Given the description of an element on the screen output the (x, y) to click on. 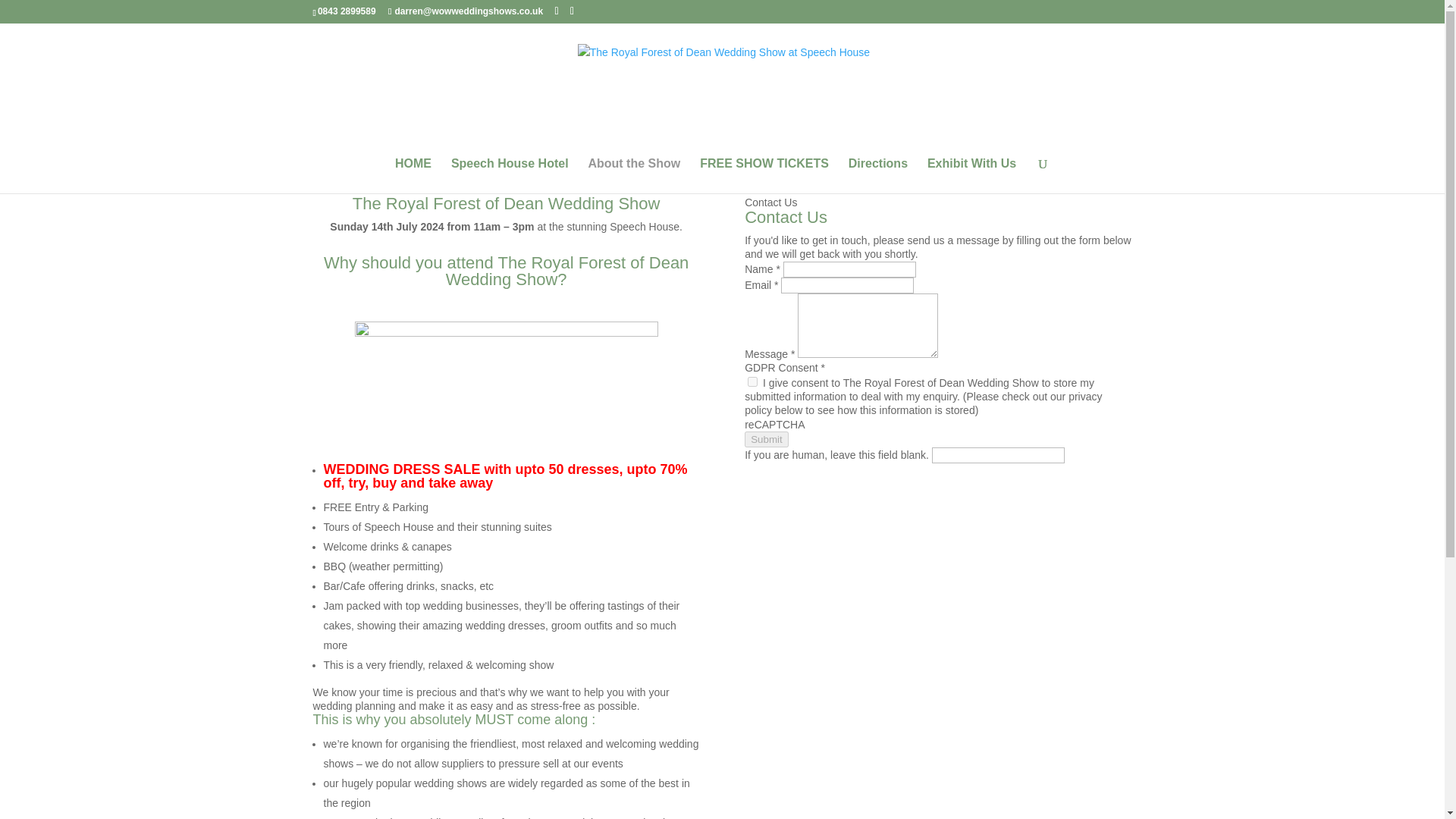
Speech House Hotel (510, 175)
FREE SHOW TICKETS (764, 175)
Exhibit With Us (971, 175)
HOME (412, 175)
Directions (877, 175)
About the Show (633, 175)
Submit (765, 439)
dresses (506, 379)
